Given the description of an element on the screen output the (x, y) to click on. 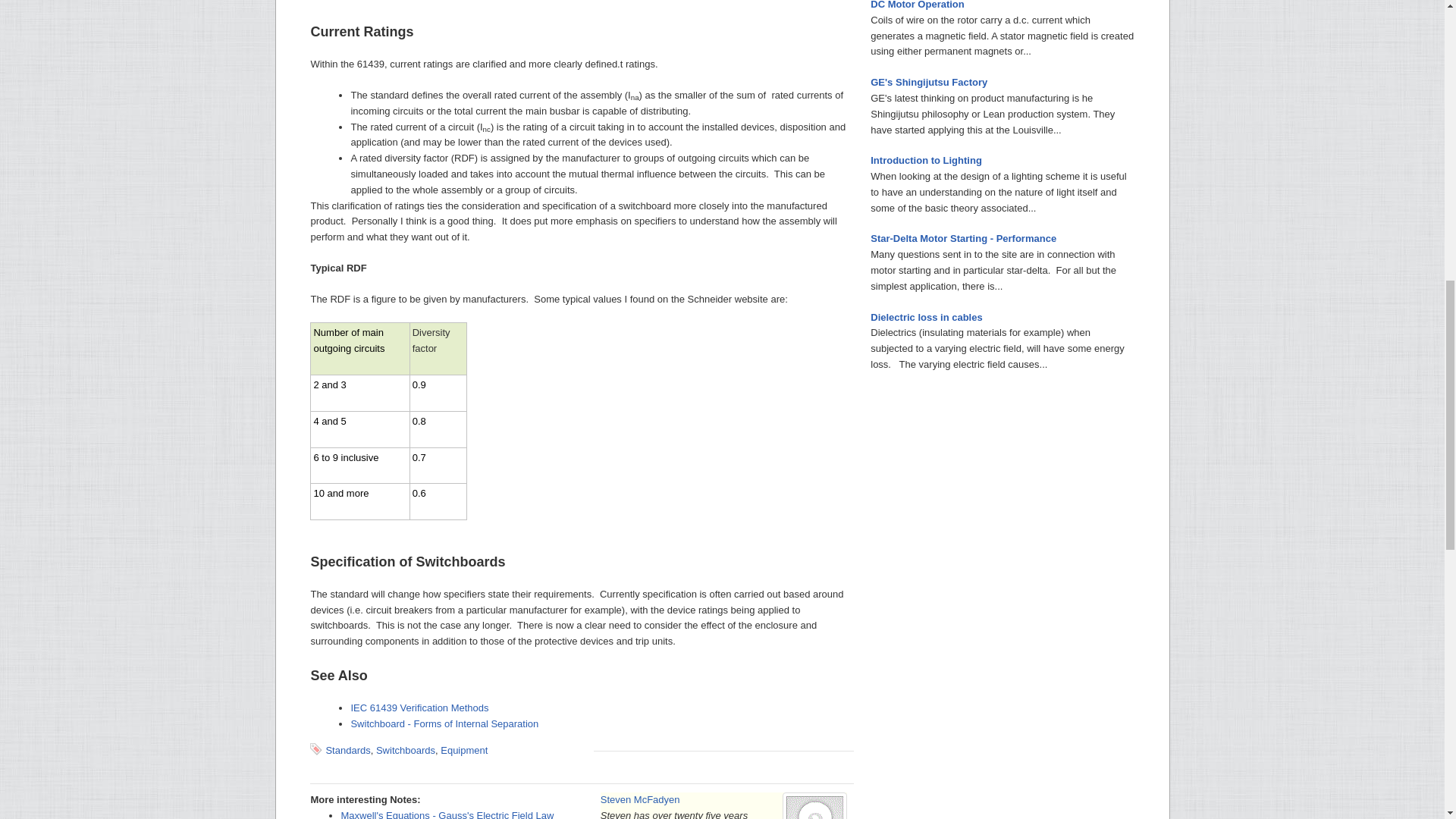
Equipment (464, 749)
Switchboards (405, 749)
Switchboard - Forms of Internal Separation (444, 723)
Standards (346, 749)
IEC 61439 Verification Methods (418, 707)
Maxwell's Equations - Gauss's Electric Field Law (446, 814)
Steven McFadyen (639, 799)
